Given the description of an element on the screen output the (x, y) to click on. 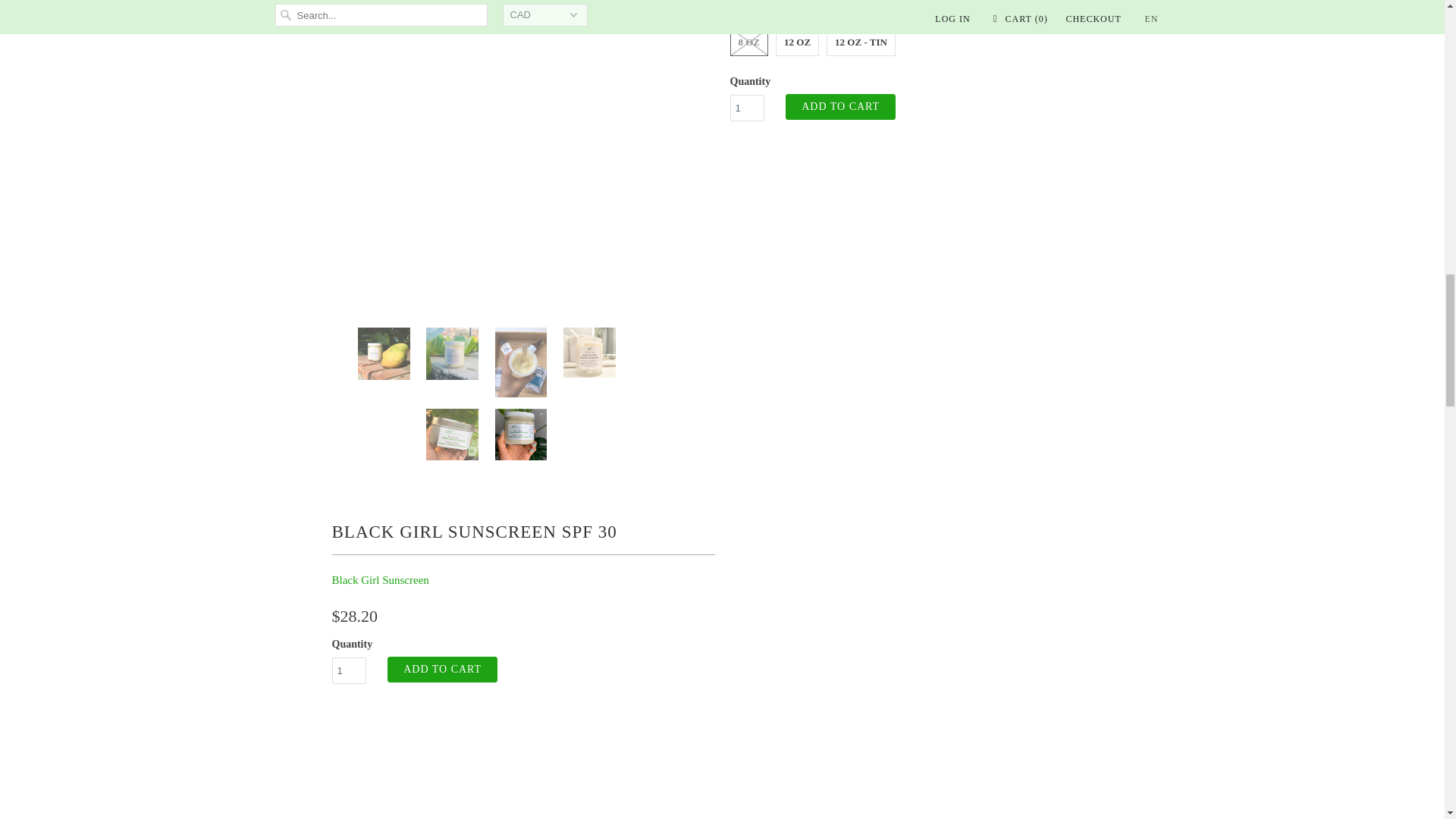
1 (745, 108)
Black Girl Sunscreen SPF 30 (950, 663)
1 (348, 670)
Shea, Mango and Cocoa Body Butter (494, 103)
